Given the description of an element on the screen output the (x, y) to click on. 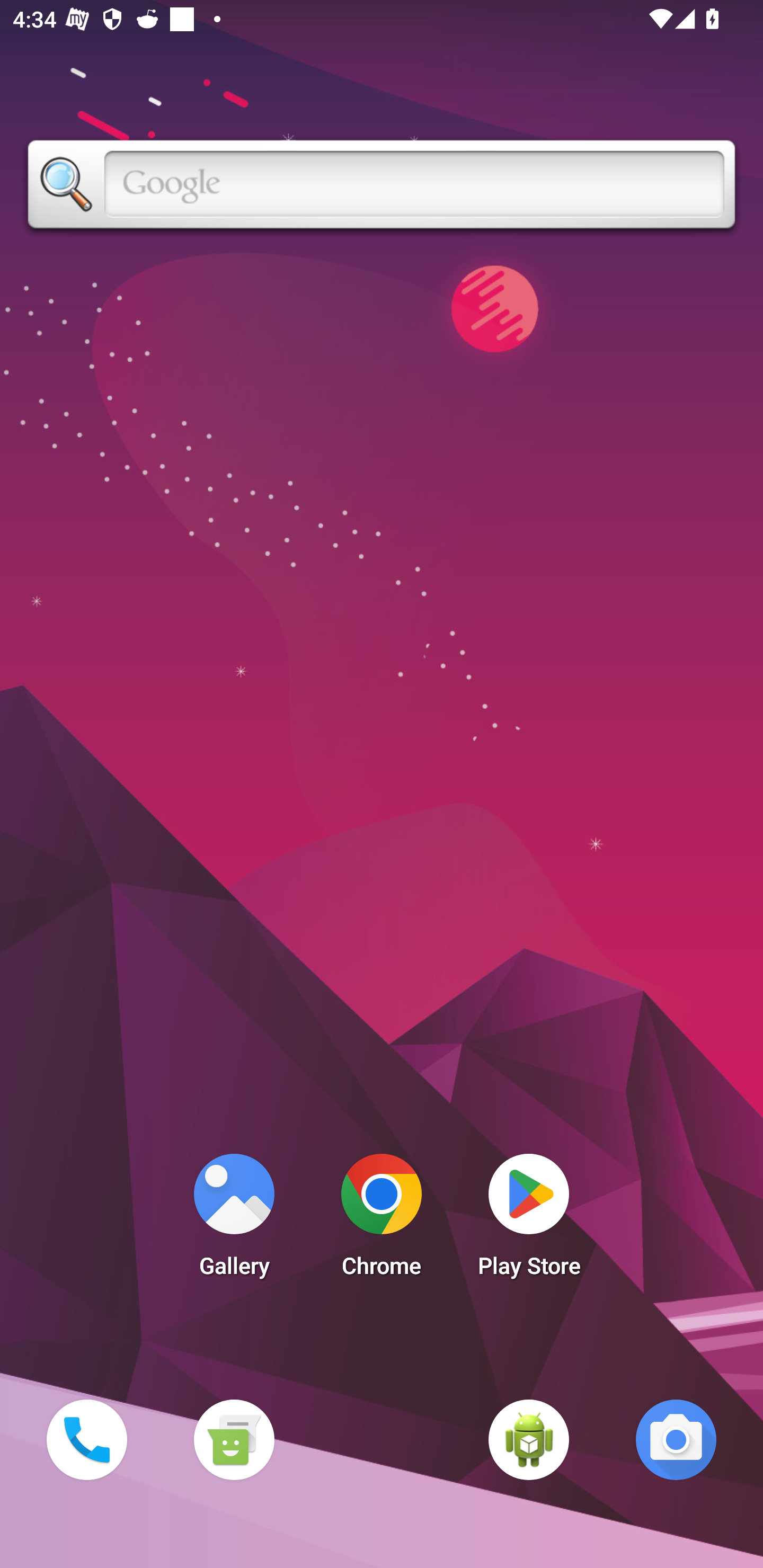
Gallery (233, 1220)
Chrome (381, 1220)
Play Store (528, 1220)
Phone (86, 1439)
Messaging (233, 1439)
WebView Browser Tester (528, 1439)
Camera (676, 1439)
